Given the description of an element on the screen output the (x, y) to click on. 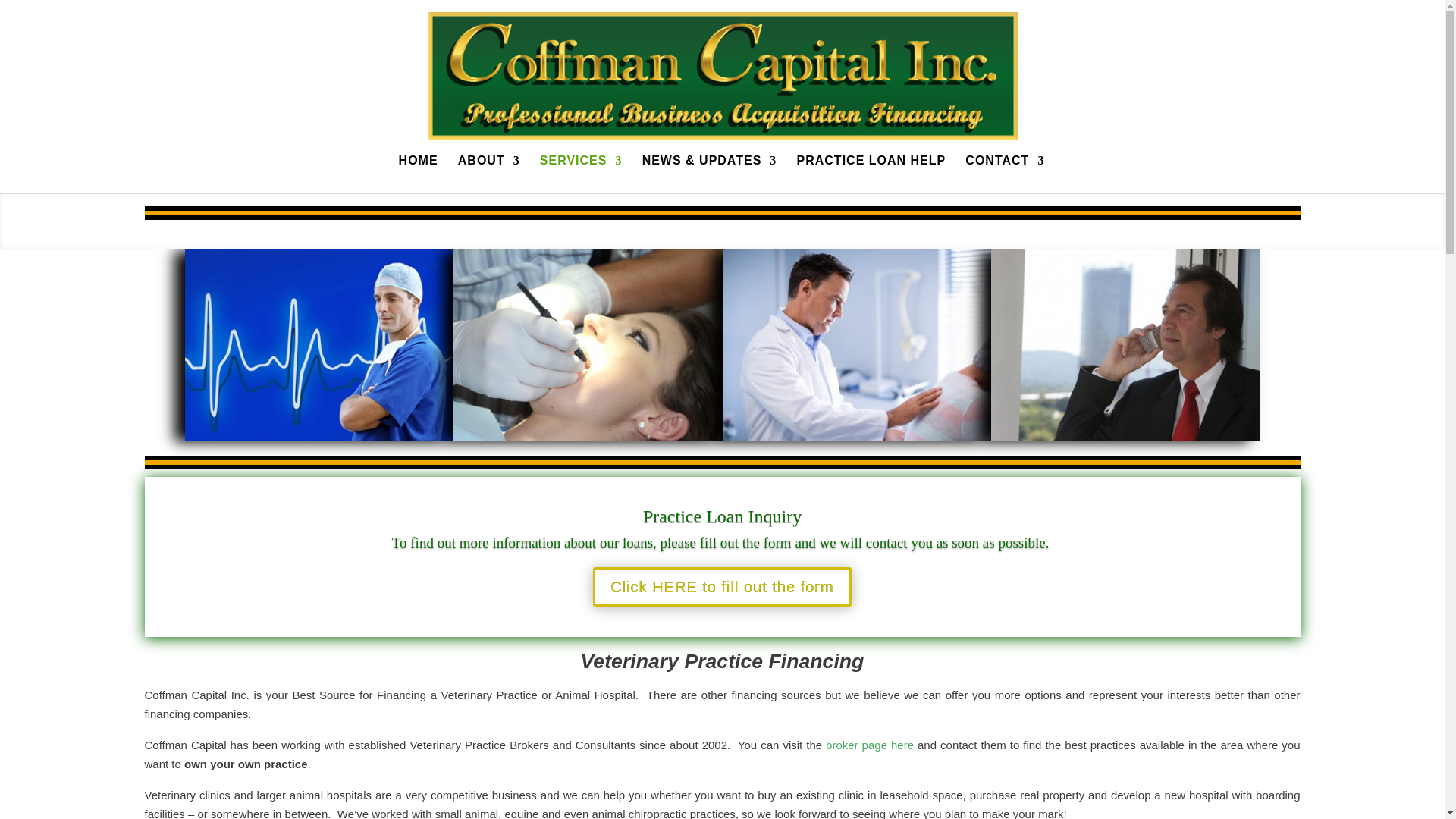
ABOUT (488, 174)
CONTACT (1004, 174)
HOME (418, 174)
SERVICES (581, 174)
PRACTICE LOAN HELP (871, 174)
chiro-coffman-capital (856, 436)
doctor-550 (318, 436)
